Given the description of an element on the screen output the (x, y) to click on. 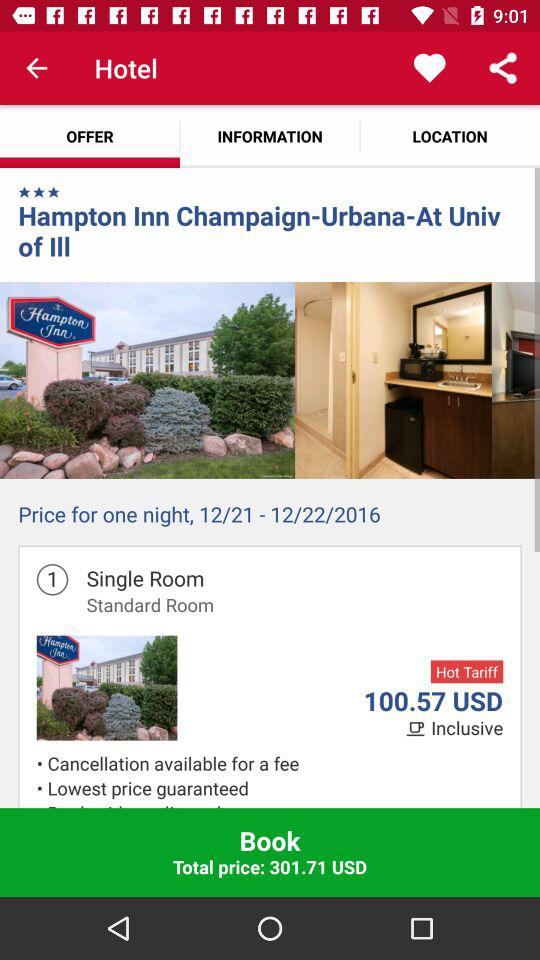
open hampton inn champaign item (269, 230)
